Given the description of an element on the screen output the (x, y) to click on. 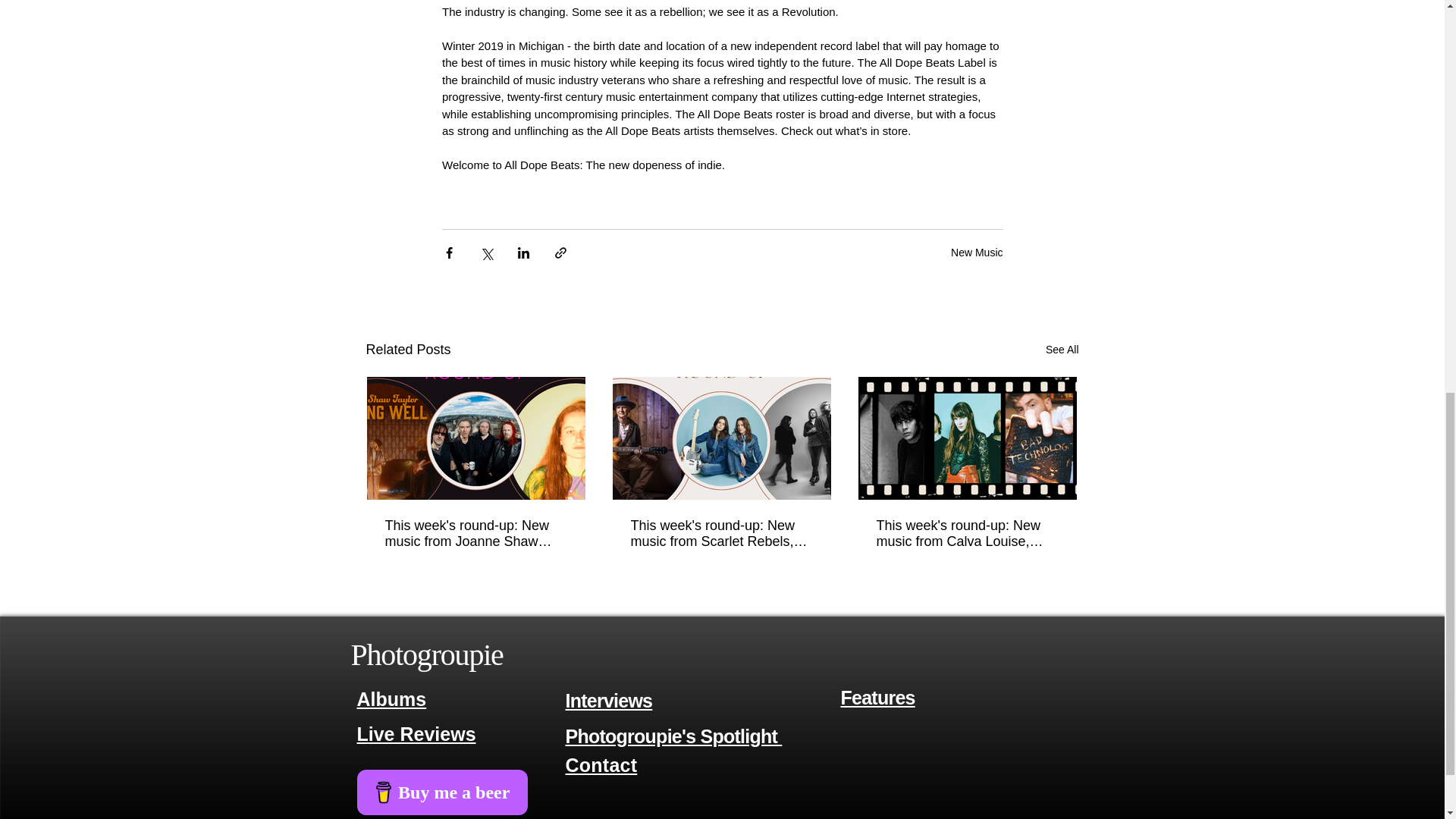
Contact (601, 765)
Albums (391, 699)
Embedded Content (482, 791)
Live Reviews (416, 733)
New Music (976, 251)
Interviews (609, 701)
See All (1061, 350)
Photogroupie's Spotlight  (674, 736)
Photogroupie (426, 654)
